Given the description of an element on the screen output the (x, y) to click on. 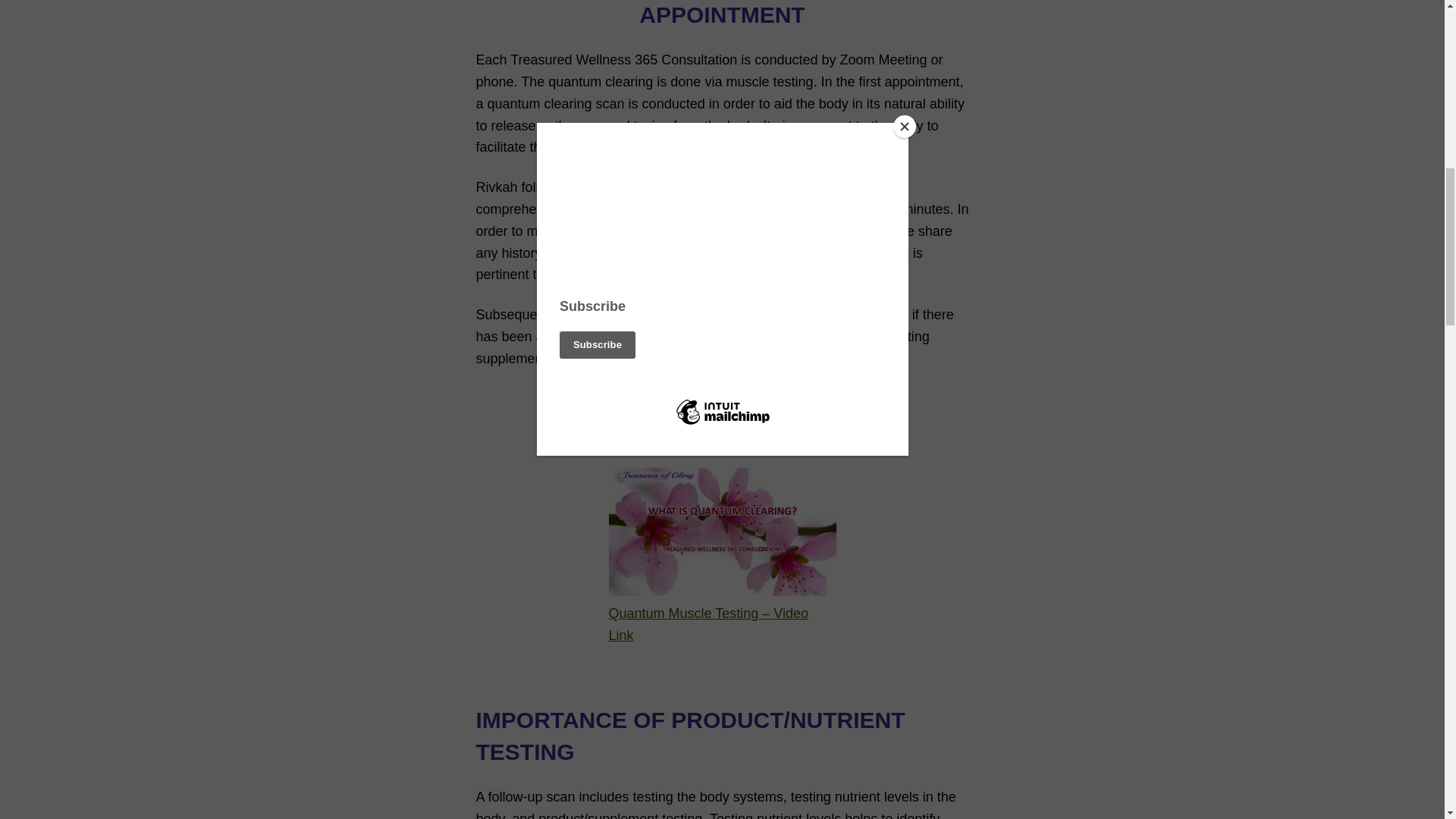
Disclaimer (722, 397)
